Given the description of an element on the screen output the (x, y) to click on. 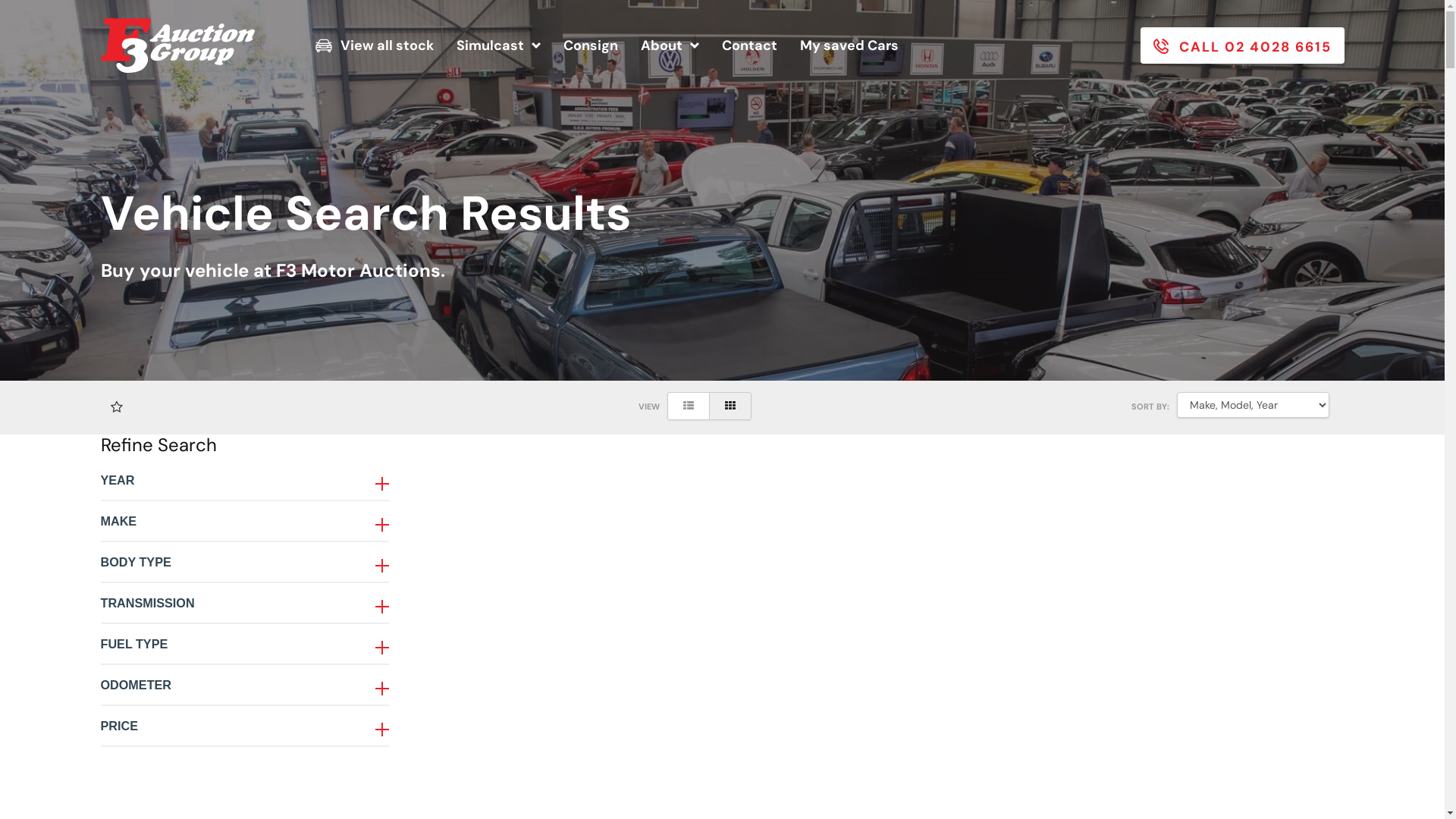
CALL 02 4028 6615 Element type: text (1242, 45)
Contact Element type: text (749, 45)
Simulcast Element type: text (498, 45)
View all stock Element type: text (374, 45)
My saved Cars Element type: text (849, 45)
Consign Element type: text (590, 45)
About Element type: text (669, 45)
